Given the description of an element on the screen output the (x, y) to click on. 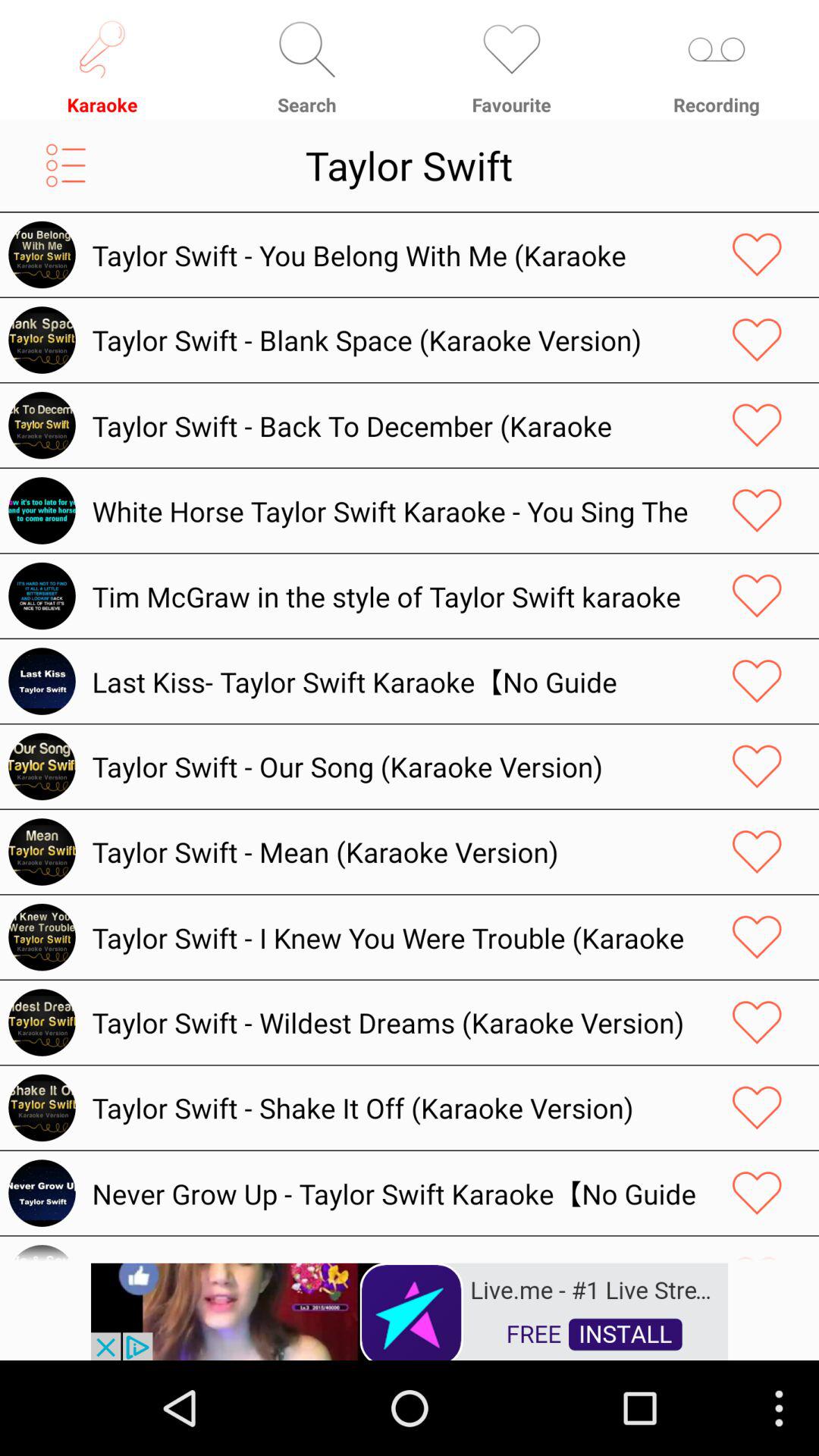
mark as favorite (756, 1022)
